Given the description of an element on the screen output the (x, y) to click on. 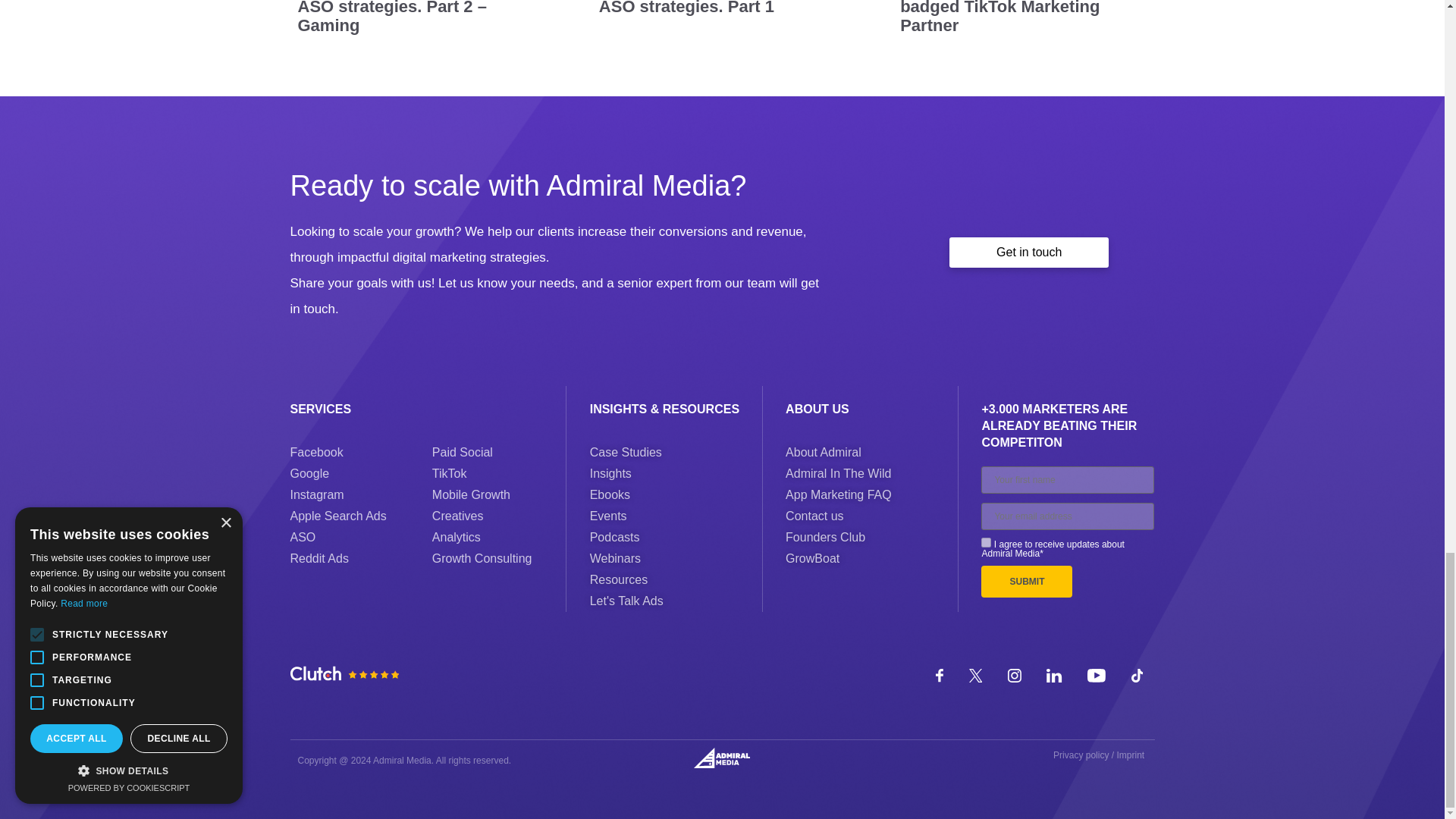
1 (986, 542)
submit (1026, 581)
